Given the description of an element on the screen output the (x, y) to click on. 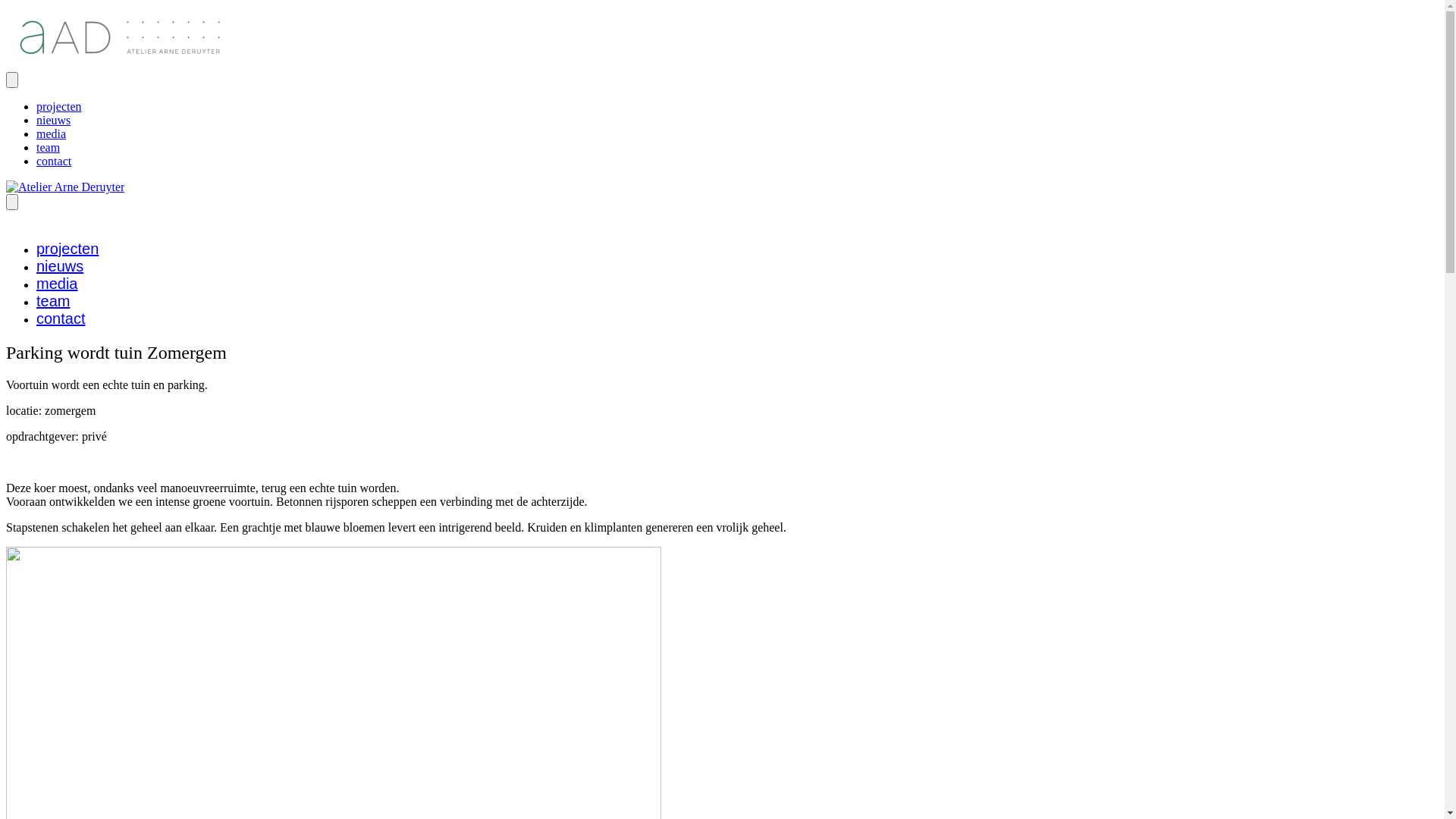
media Element type: text (56, 283)
team Element type: text (47, 147)
team Element type: text (52, 300)
projecten Element type: text (58, 106)
projecten Element type: text (67, 248)
nieuws Element type: text (59, 265)
contact Element type: text (53, 160)
contact Element type: text (60, 318)
nieuws Element type: text (53, 119)
media Element type: text (50, 133)
